Given the description of an element on the screen output the (x, y) to click on. 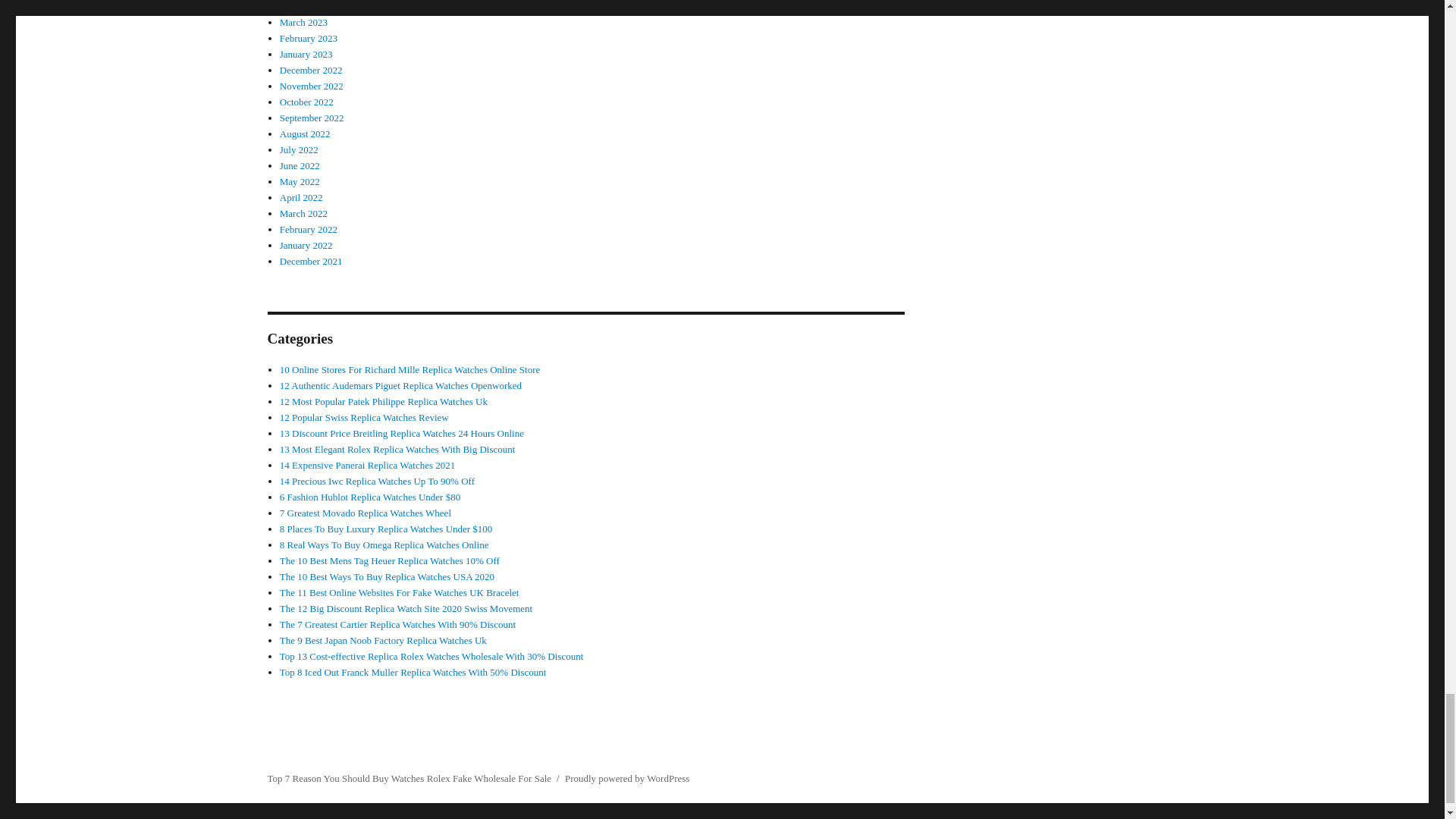
November 2022 (311, 85)
March 2023 (303, 21)
January 2023 (306, 53)
April 2023 (301, 6)
October 2022 (306, 101)
September 2022 (311, 117)
December 2022 (310, 70)
February 2023 (308, 38)
